Given the description of an element on the screen output the (x, y) to click on. 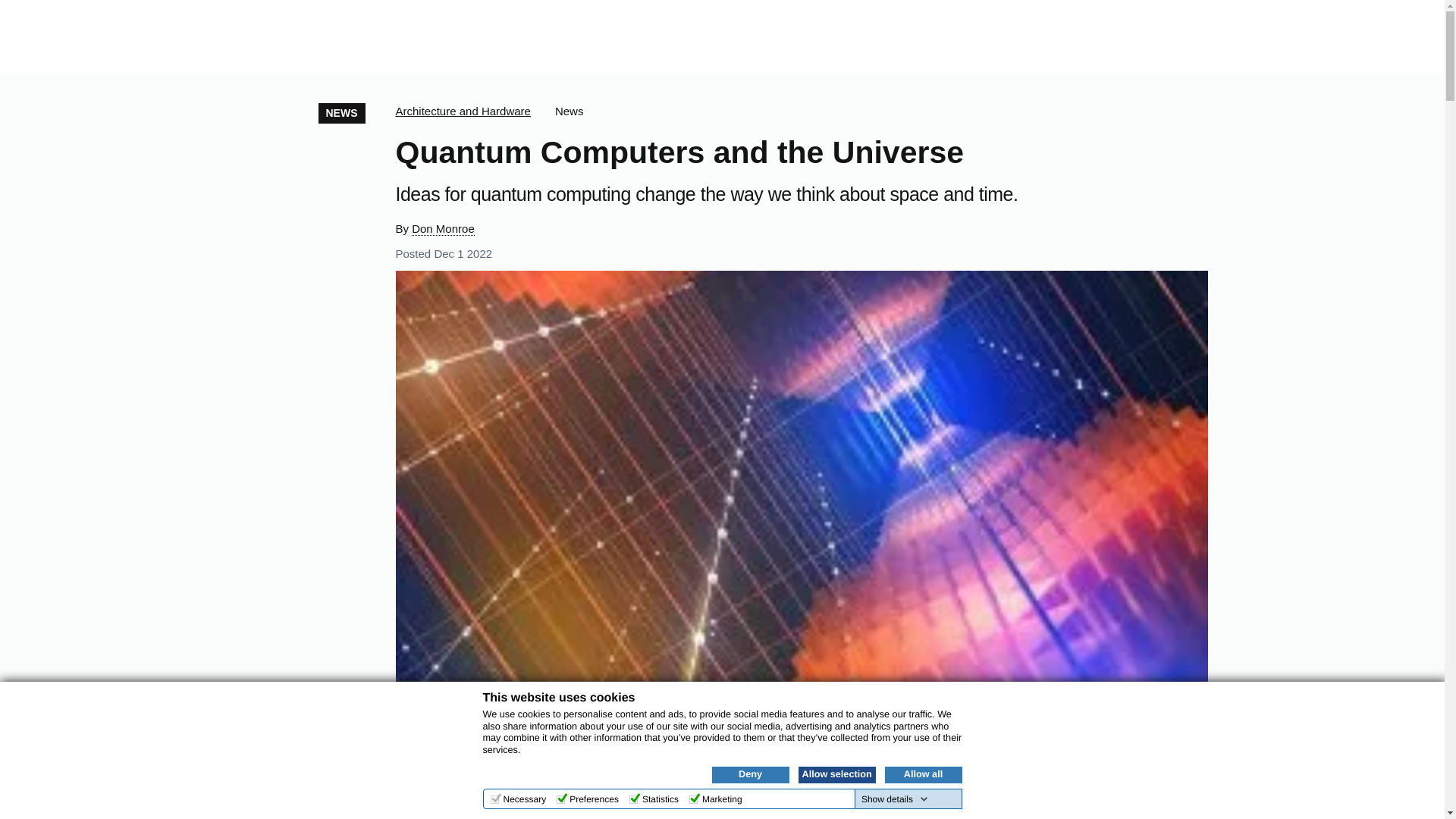
Deny (750, 774)
Allow selection (836, 774)
Show details (895, 799)
Allow all (921, 774)
